Given the description of an element on the screen output the (x, y) to click on. 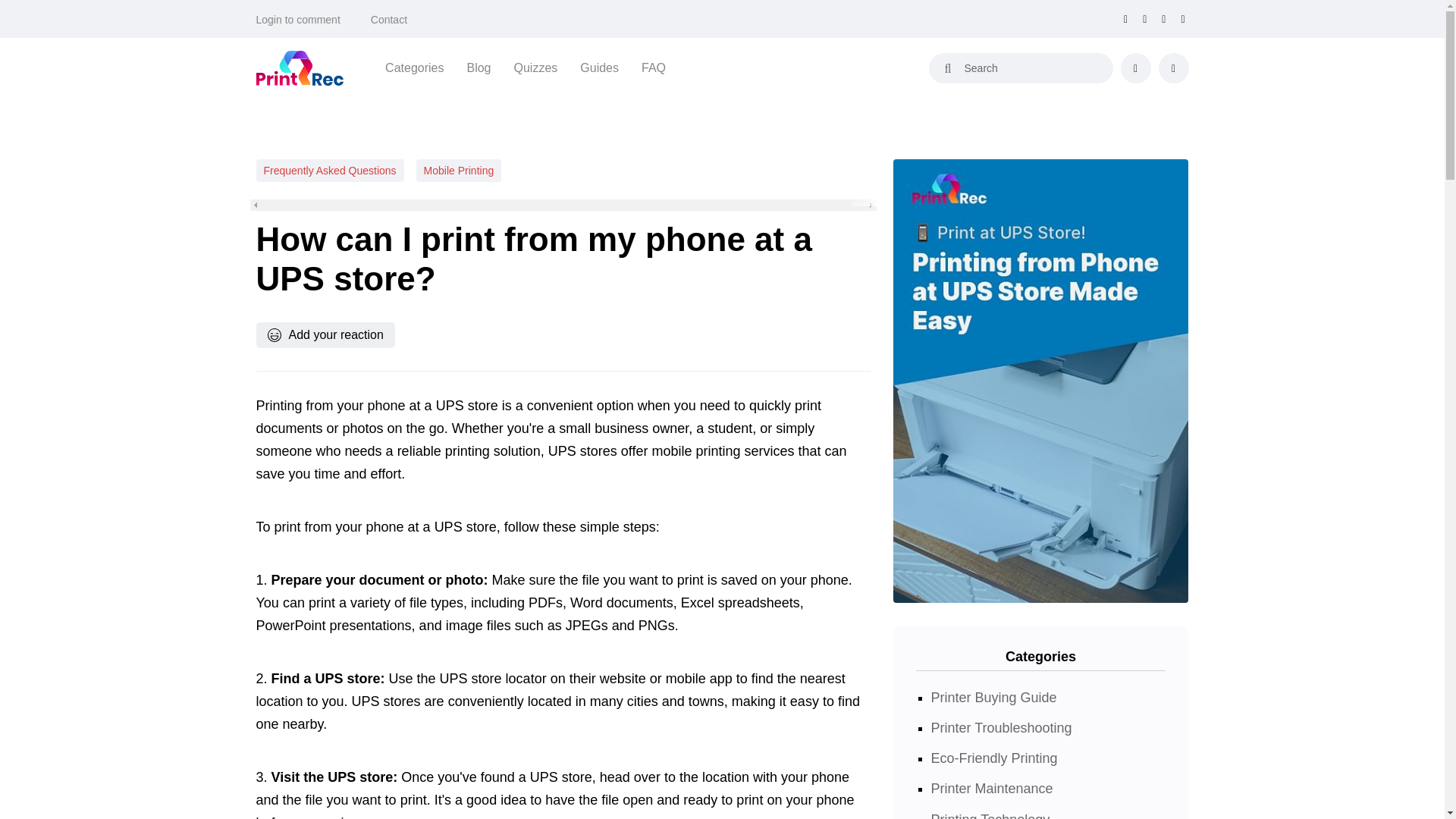
Login to comment (298, 19)
Categories (414, 67)
Contact (389, 19)
